Given the description of an element on the screen output the (x, y) to click on. 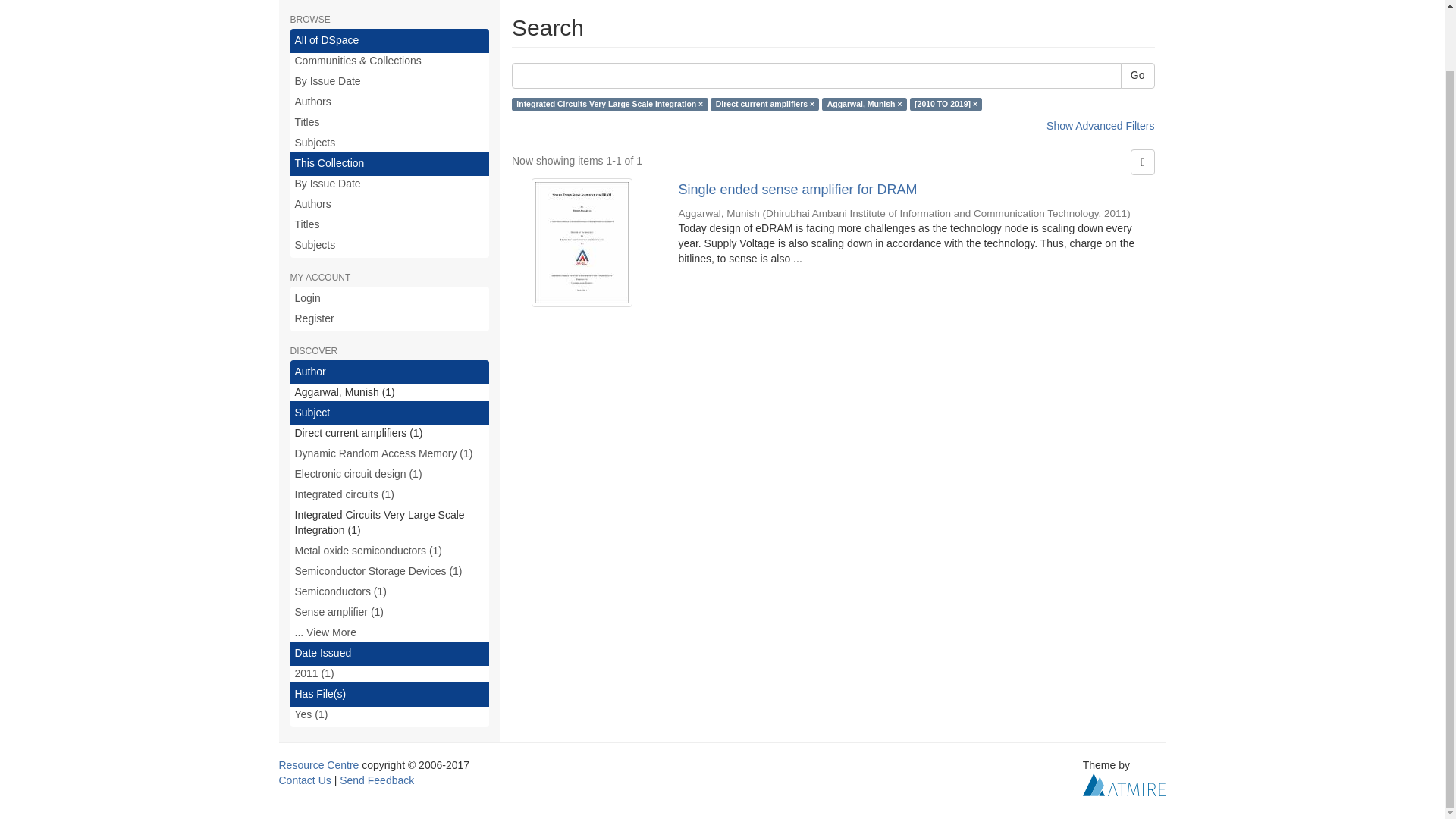
Authors (389, 102)
Go (1137, 75)
Author (389, 372)
Authors (389, 204)
Subject (389, 413)
... View More (389, 632)
All of DSpace (389, 40)
By Issue Date (389, 81)
By Issue Date (389, 183)
Register (389, 319)
Show Advanced Filters (1100, 125)
Login (389, 298)
This Collection (389, 163)
Subjects (389, 143)
Titles (389, 224)
